Given the description of an element on the screen output the (x, y) to click on. 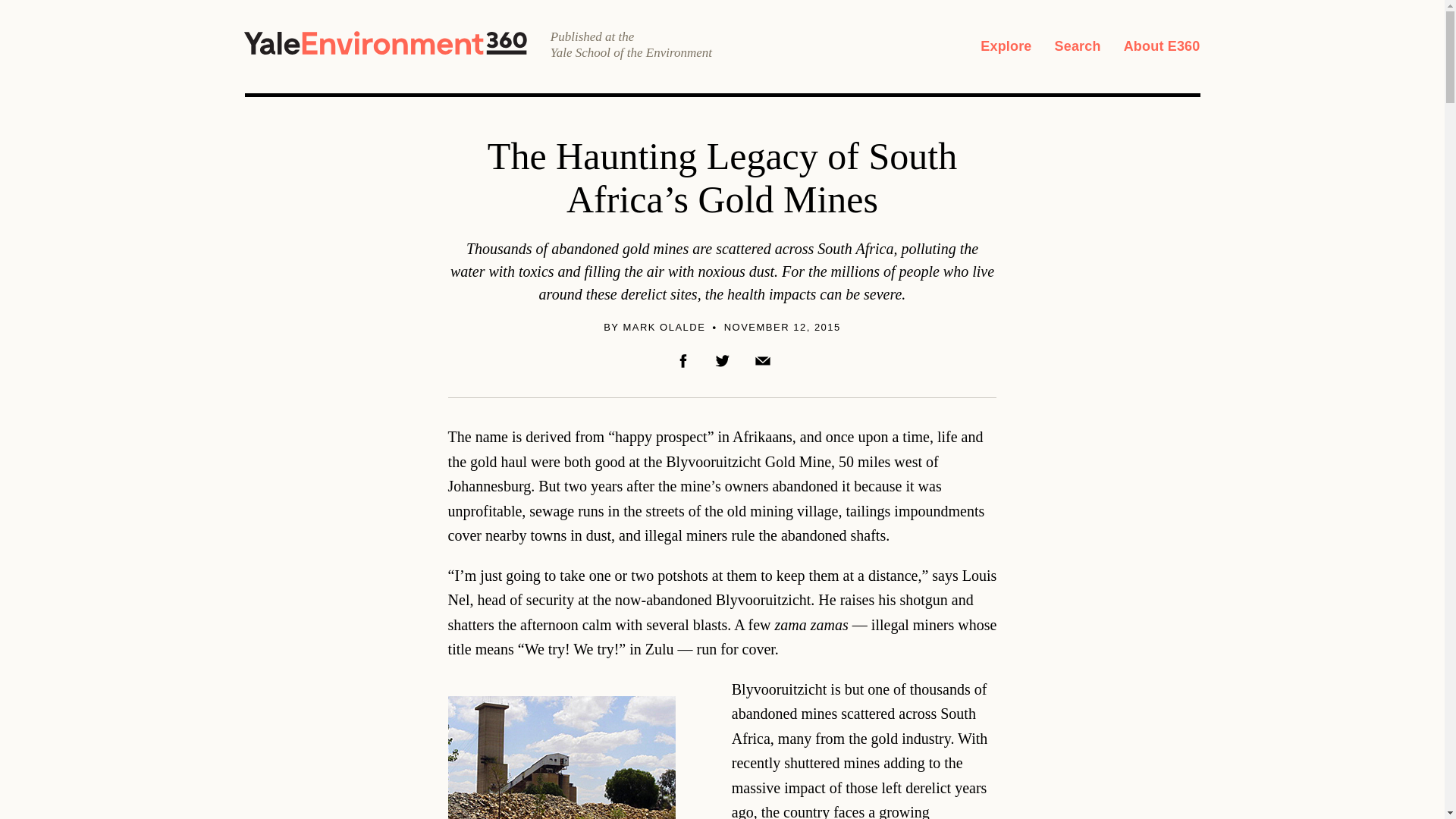
Yale Environment 360 (385, 42)
Explore (1004, 46)
Search (1077, 46)
Twitter (722, 360)
Email (762, 360)
Facebook (683, 360)
Yale School of the Environment (647, 52)
MARK OLALDE (663, 326)
About E360 (1161, 46)
